Given the description of an element on the screen output the (x, y) to click on. 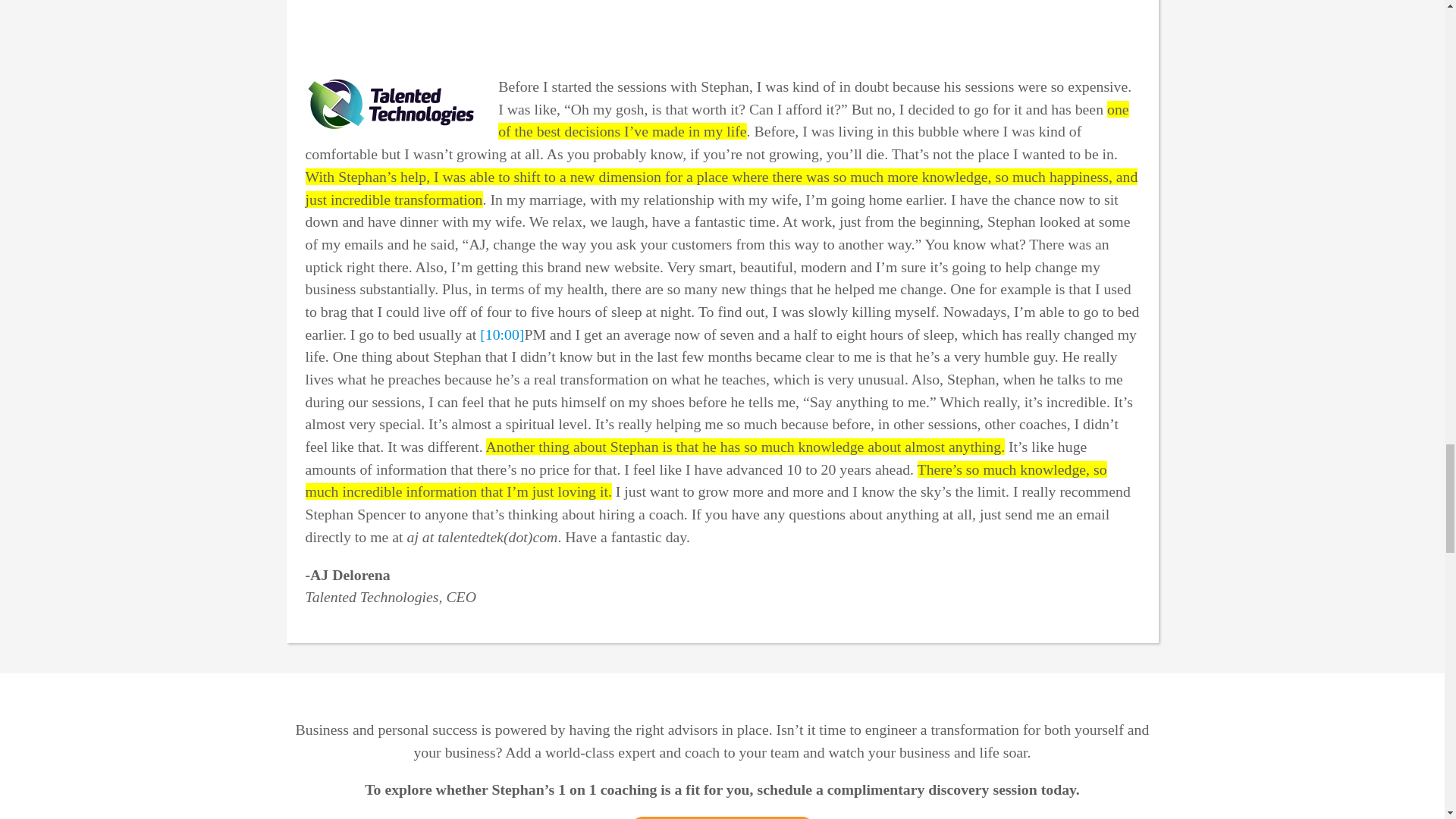
Schedule a Free Meeting Now (721, 817)
